Given the description of an element on the screen output the (x, y) to click on. 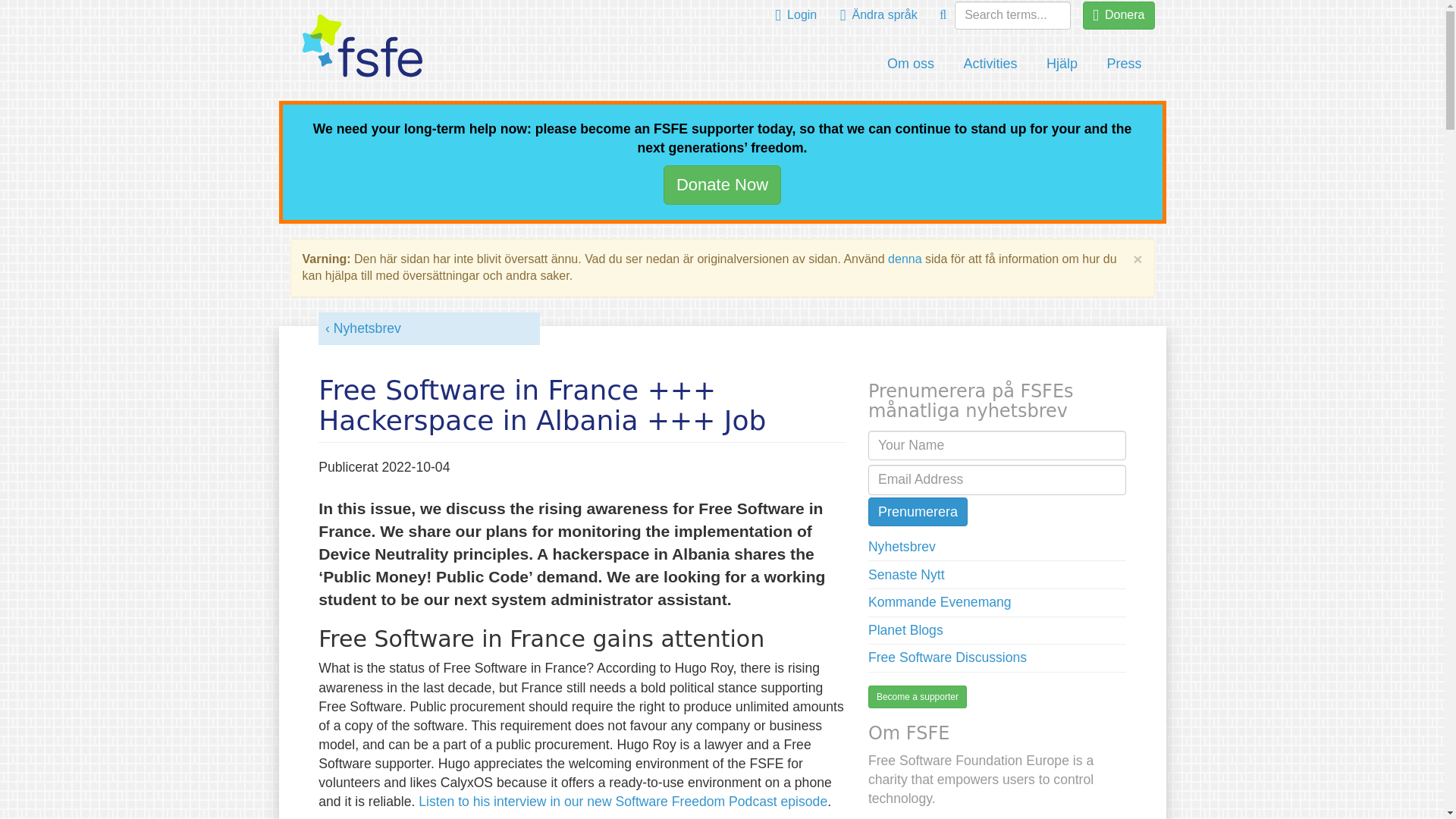
Om oss (911, 63)
Nyhetsbrev (362, 328)
Donate Now (721, 184)
Activities (990, 63)
denna (904, 257)
Press (1123, 63)
Prenumerera (917, 511)
Donera (1118, 15)
Login (796, 15)
